Given the description of an element on the screen output the (x, y) to click on. 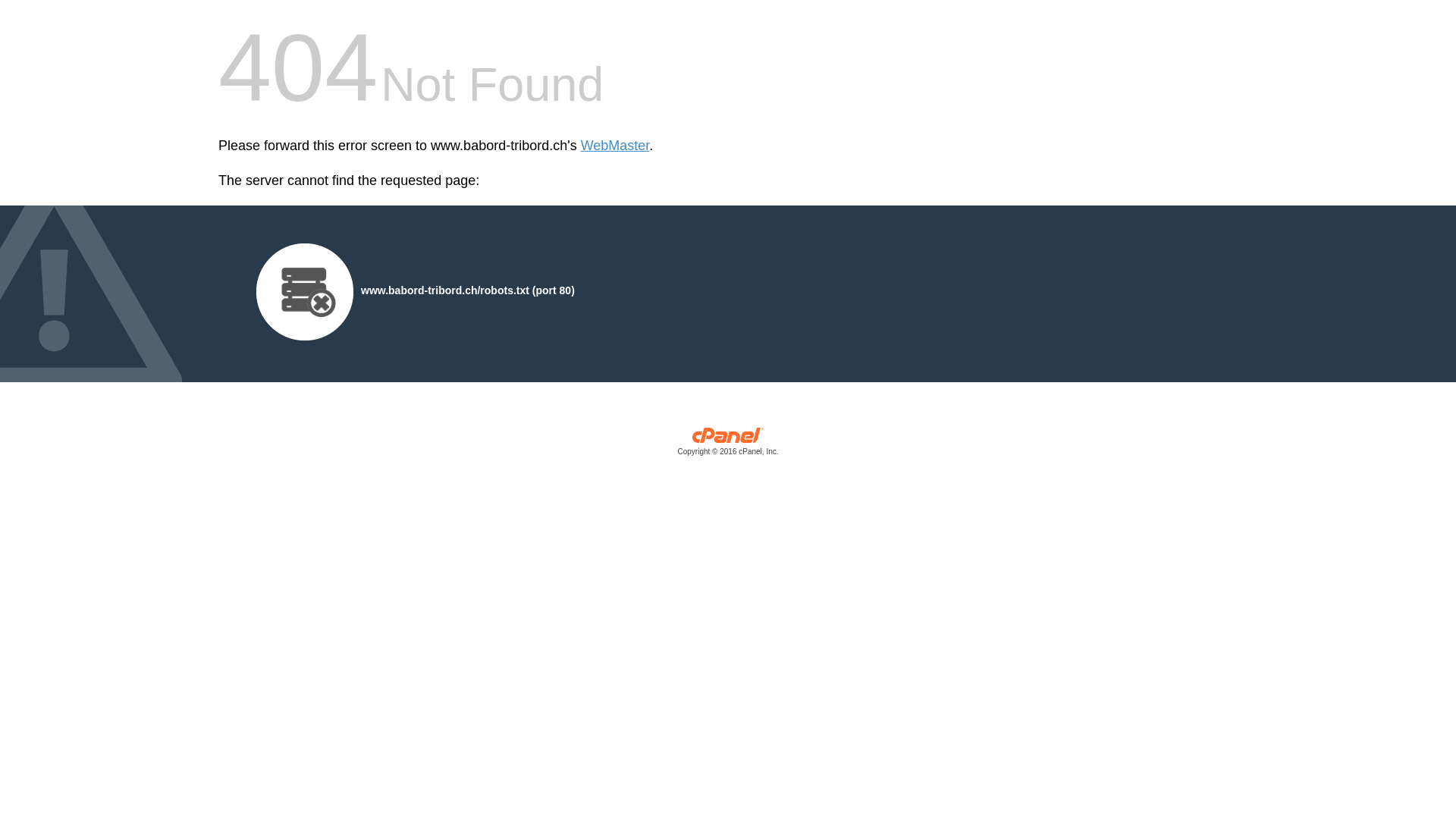
WebMaster Element type: text (614, 145)
